Given the description of an element on the screen output the (x, y) to click on. 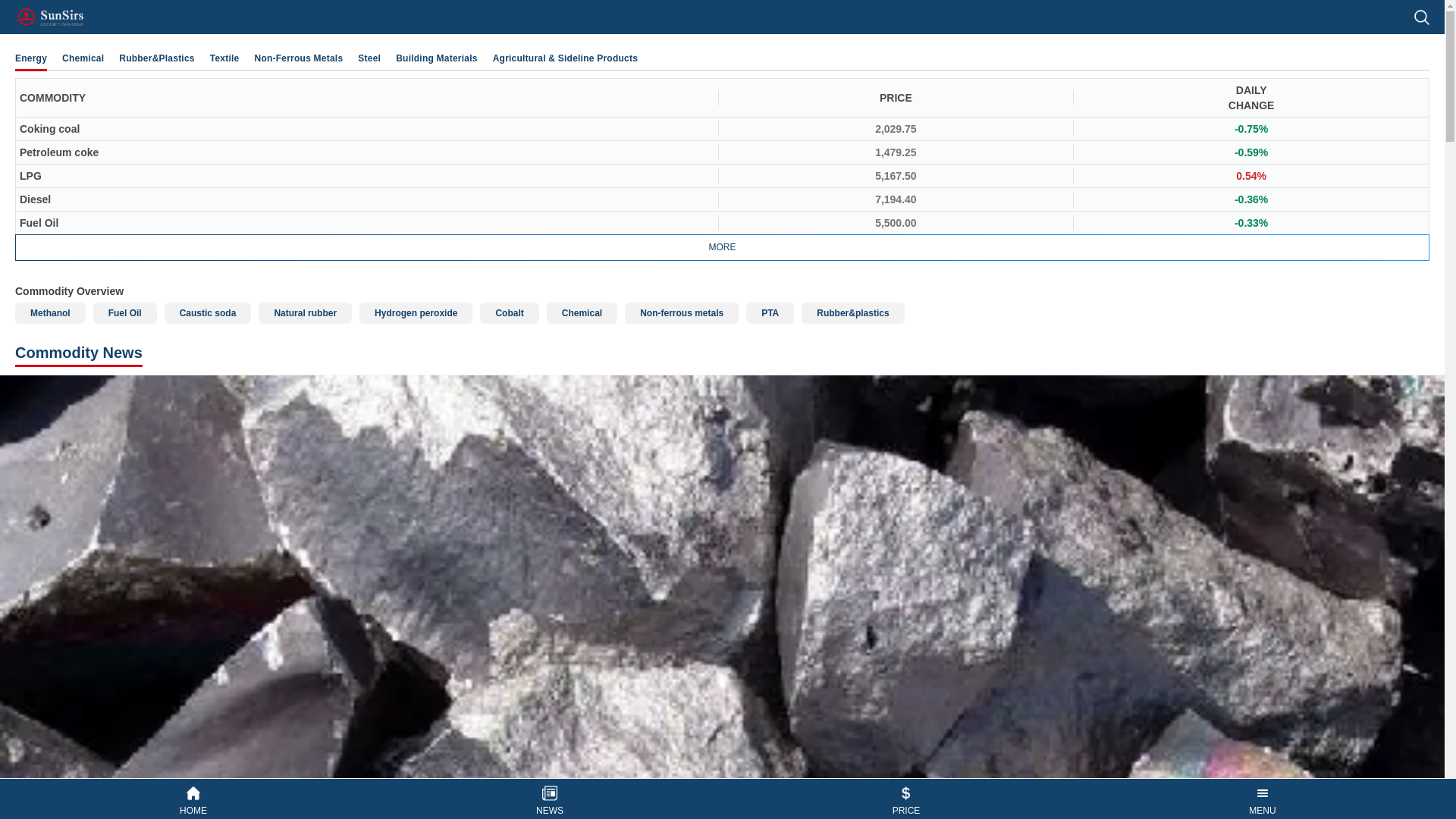
MORE (722, 247)
Energy (30, 58)
Textile (224, 58)
Natural rubber (305, 312)
Non-ferrous metals (681, 312)
Hydrogen peroxide (415, 312)
Chemical (582, 312)
Cobalt (509, 312)
Methanol (49, 312)
Building Materials (436, 58)
Steel (369, 58)
Fuel Oil (125, 312)
Non-Ferrous Metals (298, 58)
Caustic soda (207, 312)
PTA (769, 312)
